Given the description of an element on the screen output the (x, y) to click on. 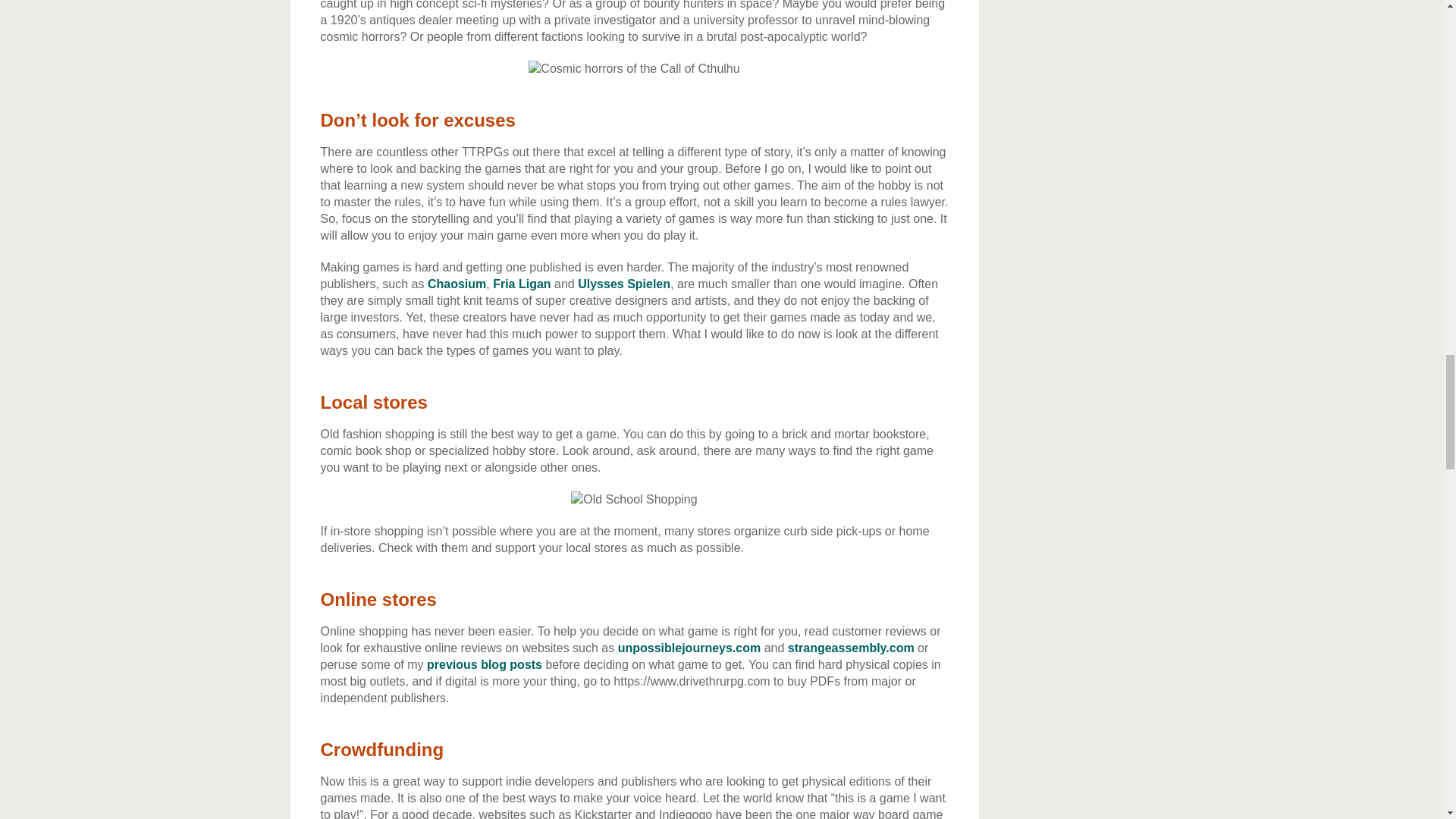
Fria Ligan - Free League (521, 283)
The Voyager's Workshop Blog (483, 664)
Ulisses Spielen (623, 283)
Strange Assembly (850, 647)
Unpossible Journeys (688, 647)
Chaosium (457, 283)
